Given the description of an element on the screen output the (x, y) to click on. 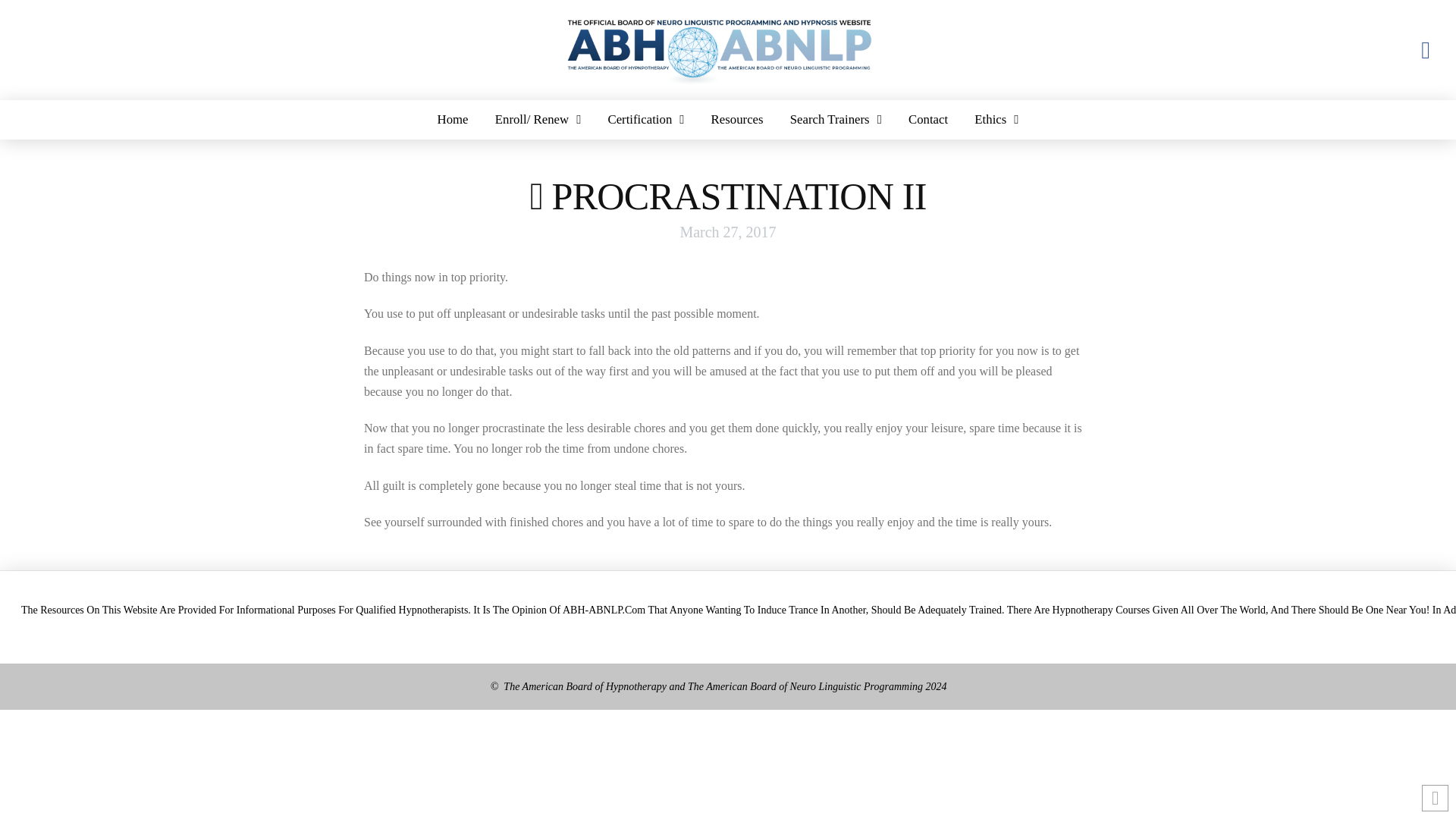
Contact (927, 119)
Search Trainers (835, 119)
Resources (736, 119)
Ethics (996, 119)
Back to Top (1435, 797)
Home (452, 119)
Certification (645, 119)
